Given the description of an element on the screen output the (x, y) to click on. 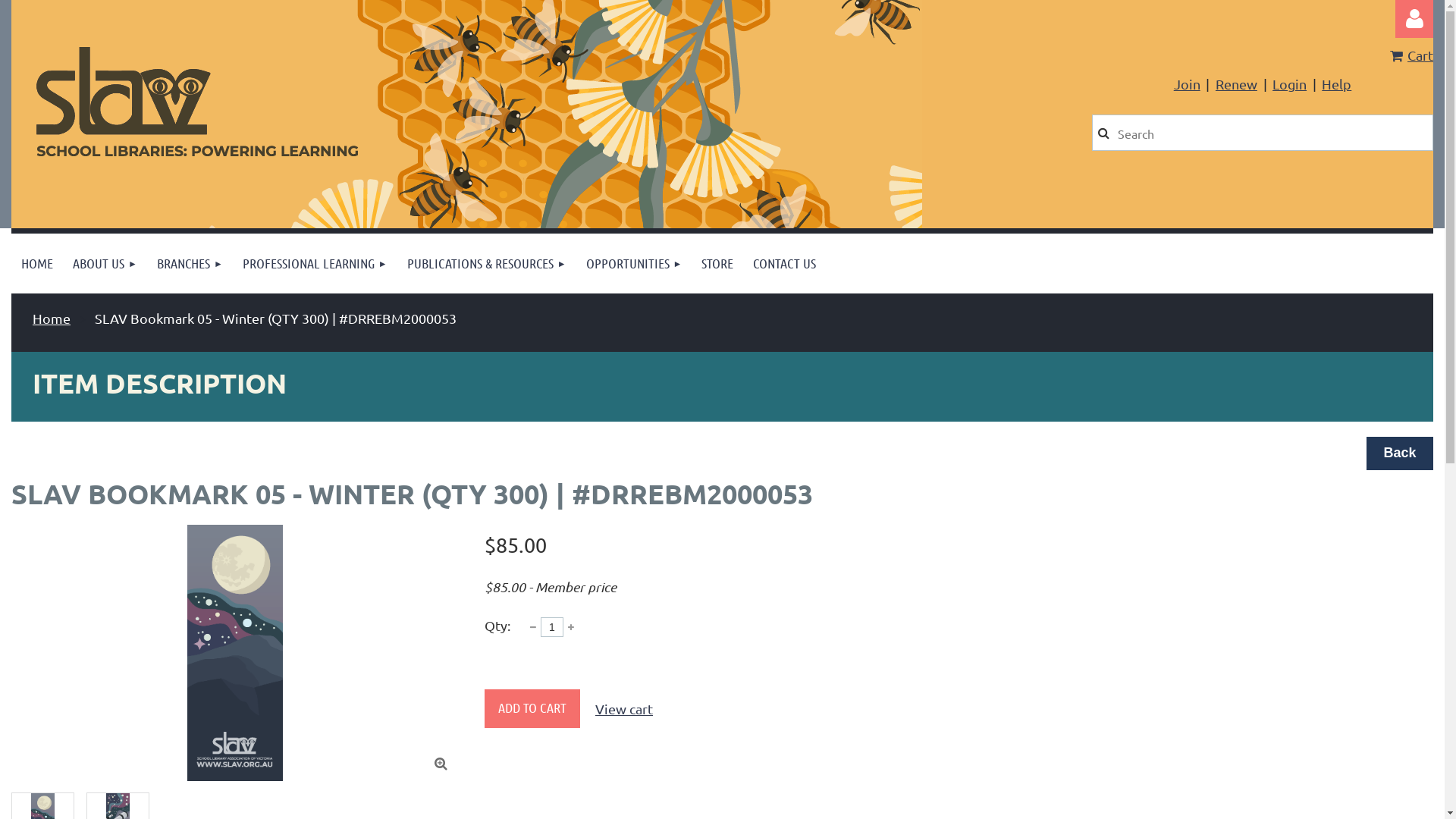
HOME Element type: text (36, 263)
PUBLICATIONS & RESOURCES Element type: text (486, 263)
Home Element type: text (51, 318)
ABOUT US Element type: text (104, 263)
CONTACT US Element type: text (784, 263)
Login Element type: text (1289, 83)
Log in Element type: text (1414, 18)
Add to cart Element type: hover (532, 708)
Back Element type: text (1399, 453)
STORE Element type: text (717, 263)
OPPORTUNITIES Element type: text (634, 263)
Cart Element type: text (1411, 54)
Join Element type: text (1186, 83)
PROFESSIONAL LEARNING Element type: text (314, 263)
BRANCHES Element type: text (189, 263)
Help Element type: text (1336, 83)
View cart Element type: text (623, 708)
Renew Element type: text (1236, 83)
